Given the description of an element on the screen output the (x, y) to click on. 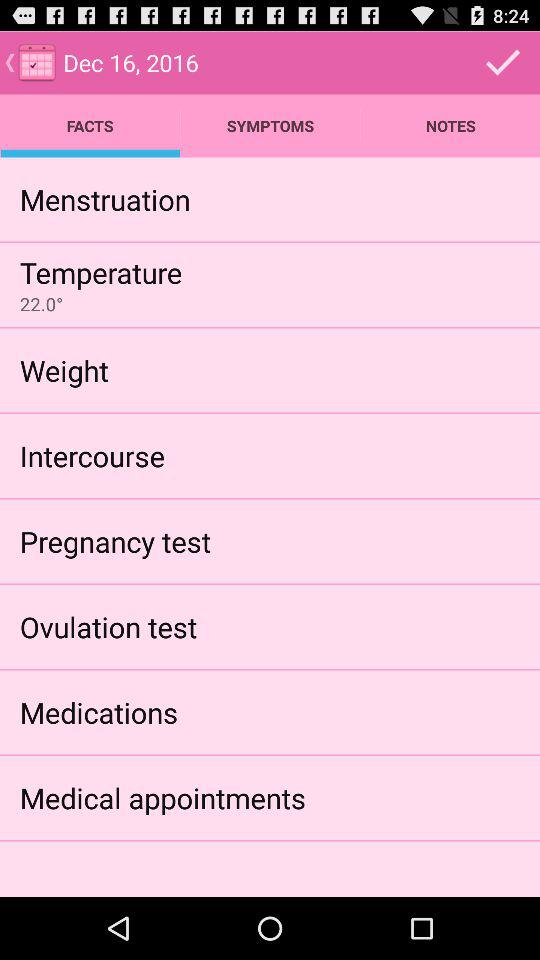
tap the item below pregnancy test icon (108, 626)
